Given the description of an element on the screen output the (x, y) to click on. 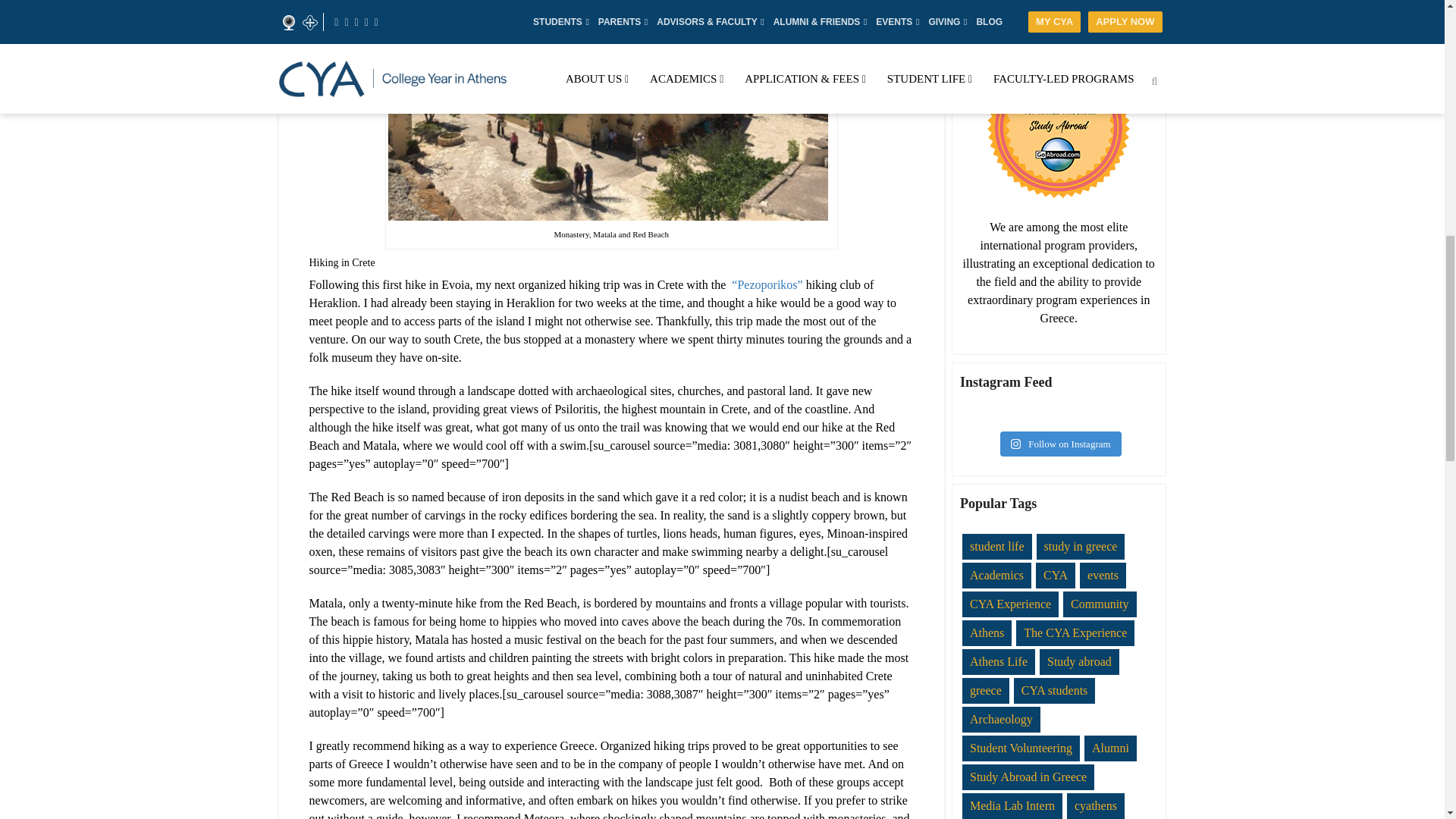
47 topics (986, 632)
25 topics (1102, 575)
139 topics (1055, 575)
76 topics (1080, 546)
68 topics (1010, 604)
35 topics (1098, 604)
47 topics (996, 575)
53 topics (997, 546)
